Given the description of an element on the screen output the (x, y) to click on. 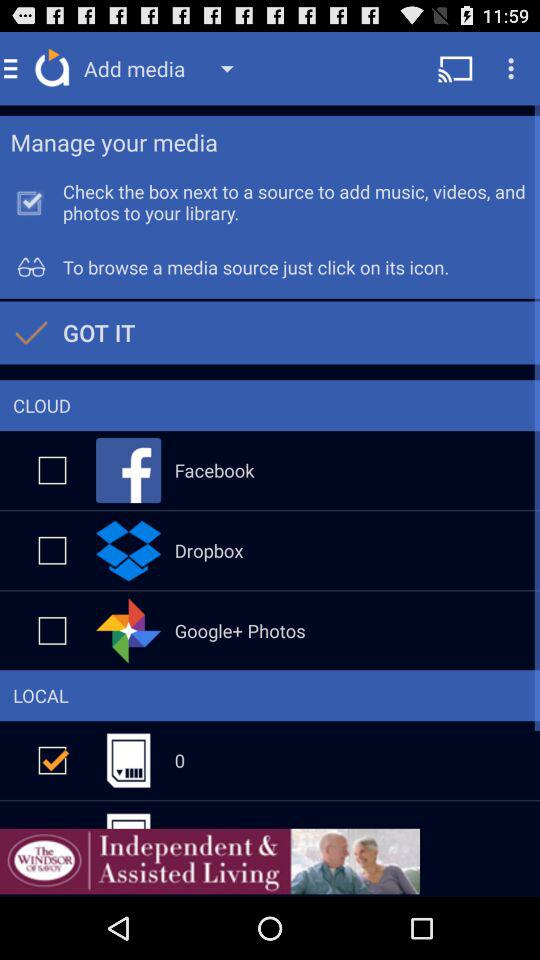
mark (52, 469)
